Given the description of an element on the screen output the (x, y) to click on. 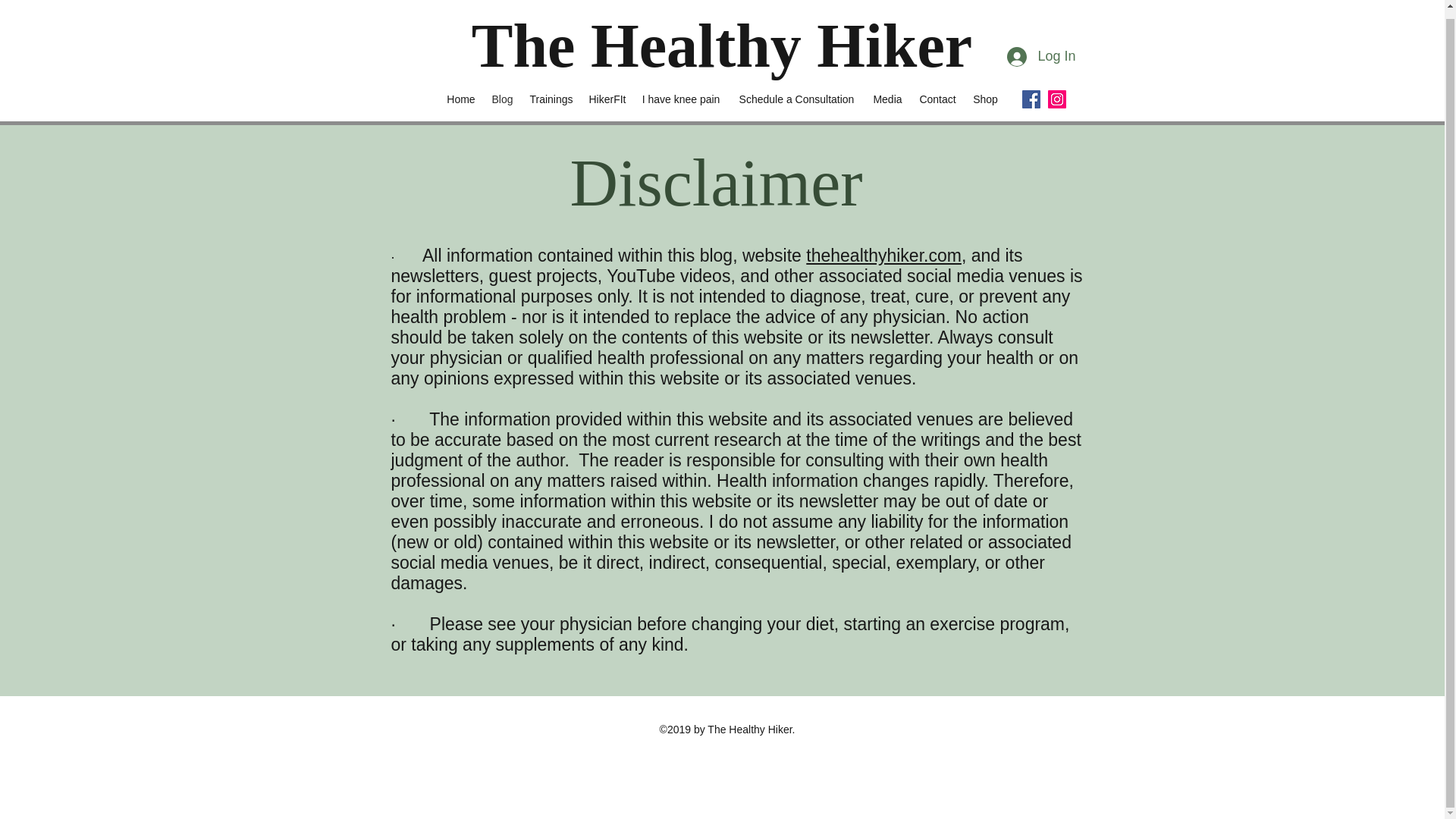
The Healthy Hiker (721, 45)
Trainings (550, 98)
Media (887, 98)
Schedule a Consultation (796, 98)
Home (460, 98)
Log In (1040, 56)
Contact (936, 98)
Shop (984, 98)
I have knee pain (681, 98)
thehealthyhiker.com (883, 255)
